Given the description of an element on the screen output the (x, y) to click on. 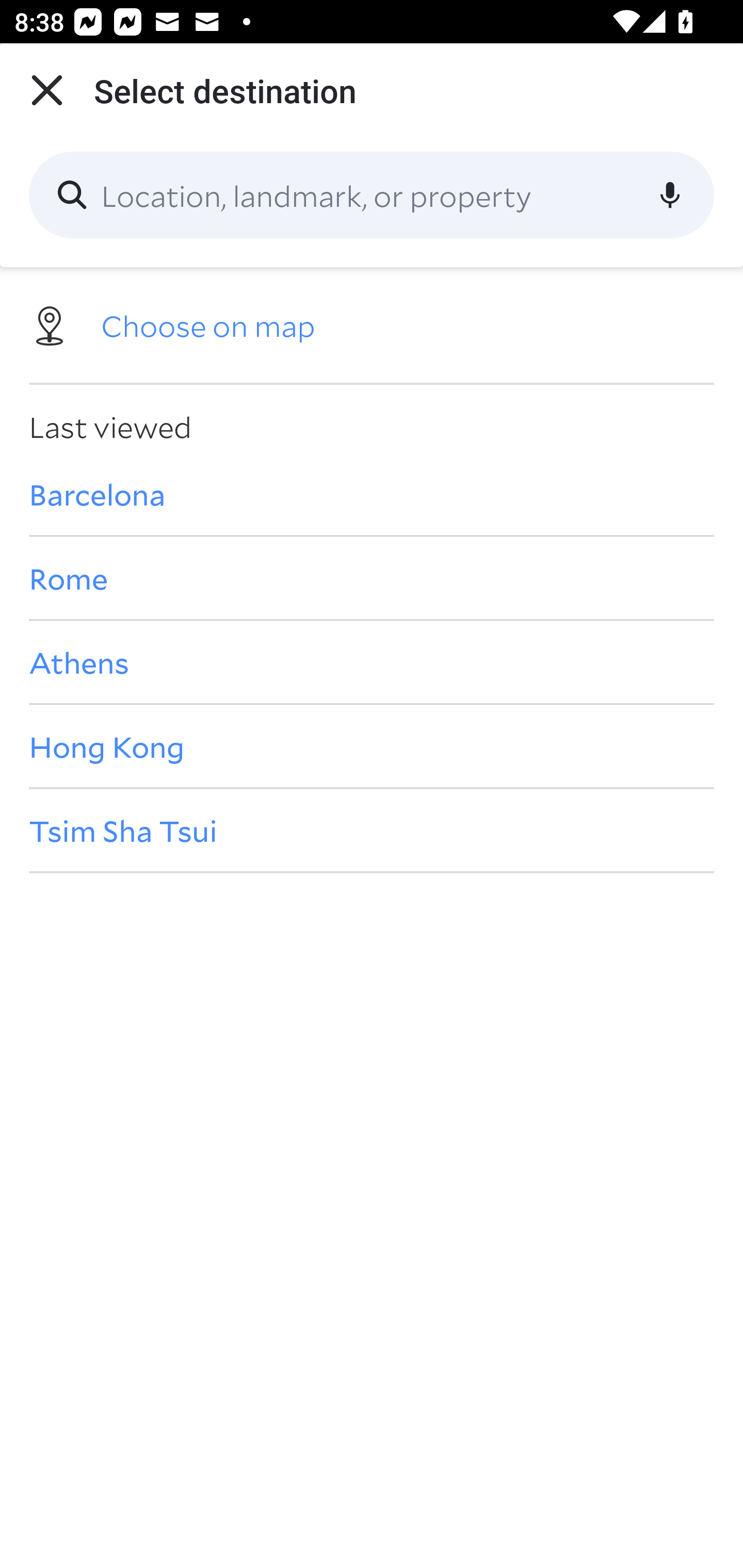
Location, landmark, or property (371, 195)
Choose on map (371, 324)
Barcelona (371, 493)
Rome (371, 577)
Athens (371, 661)
Hong Kong (371, 746)
Tsim Sha Tsui (371, 829)
